Given the description of an element on the screen output the (x, y) to click on. 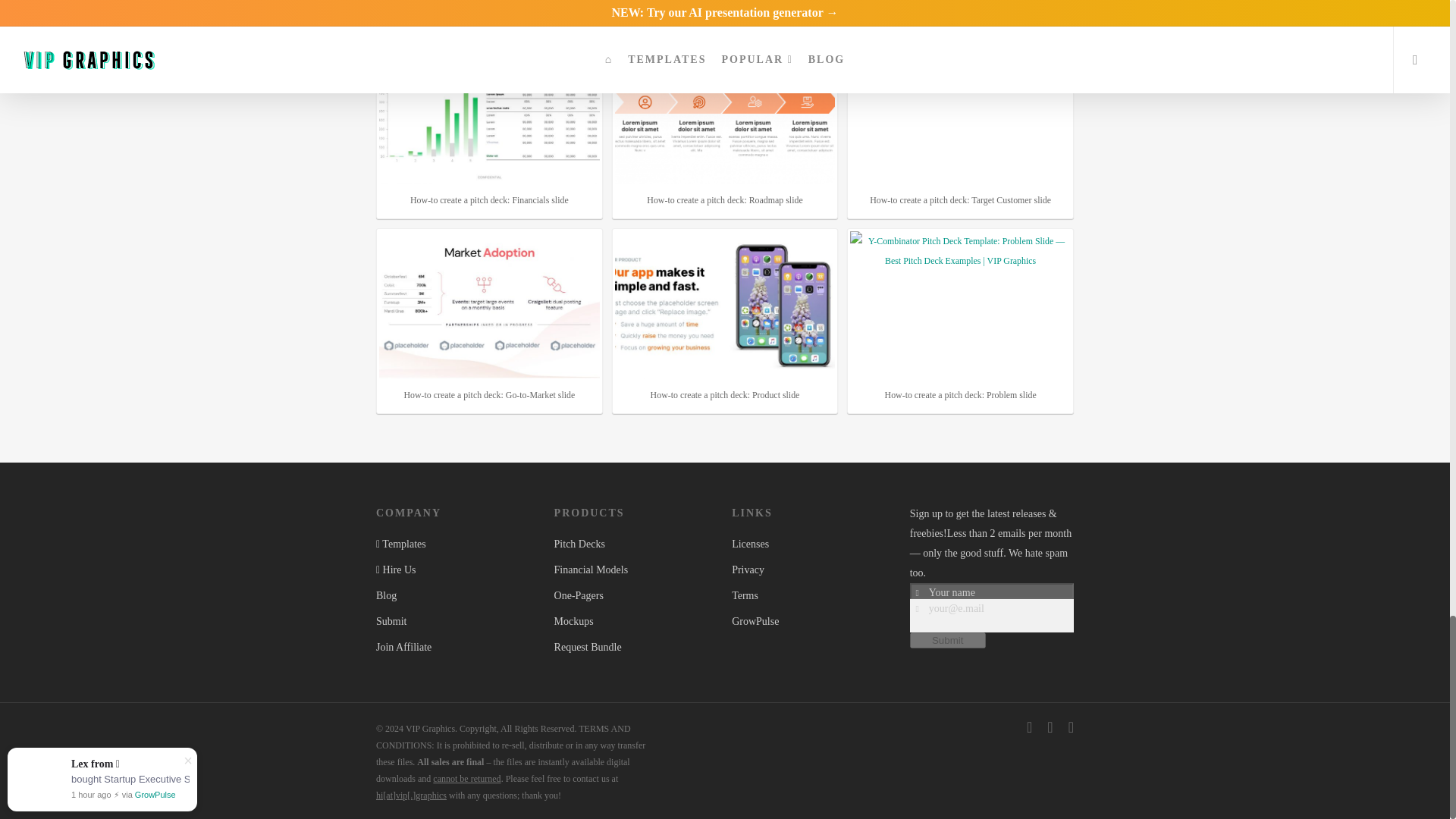
How-to create a pitch deck: Problem slide (960, 304)
How-to create a pitch deck: Go-to-Market slide (488, 304)
How-to create a pitch deck: Target Customer slide (960, 109)
How-to create a pitch deck: Financials slide (488, 109)
How-to create a pitch deck: Product slide (724, 304)
How-to create a pitch deck: Roadmap slide (724, 109)
